Given the description of an element on the screen output the (x, y) to click on. 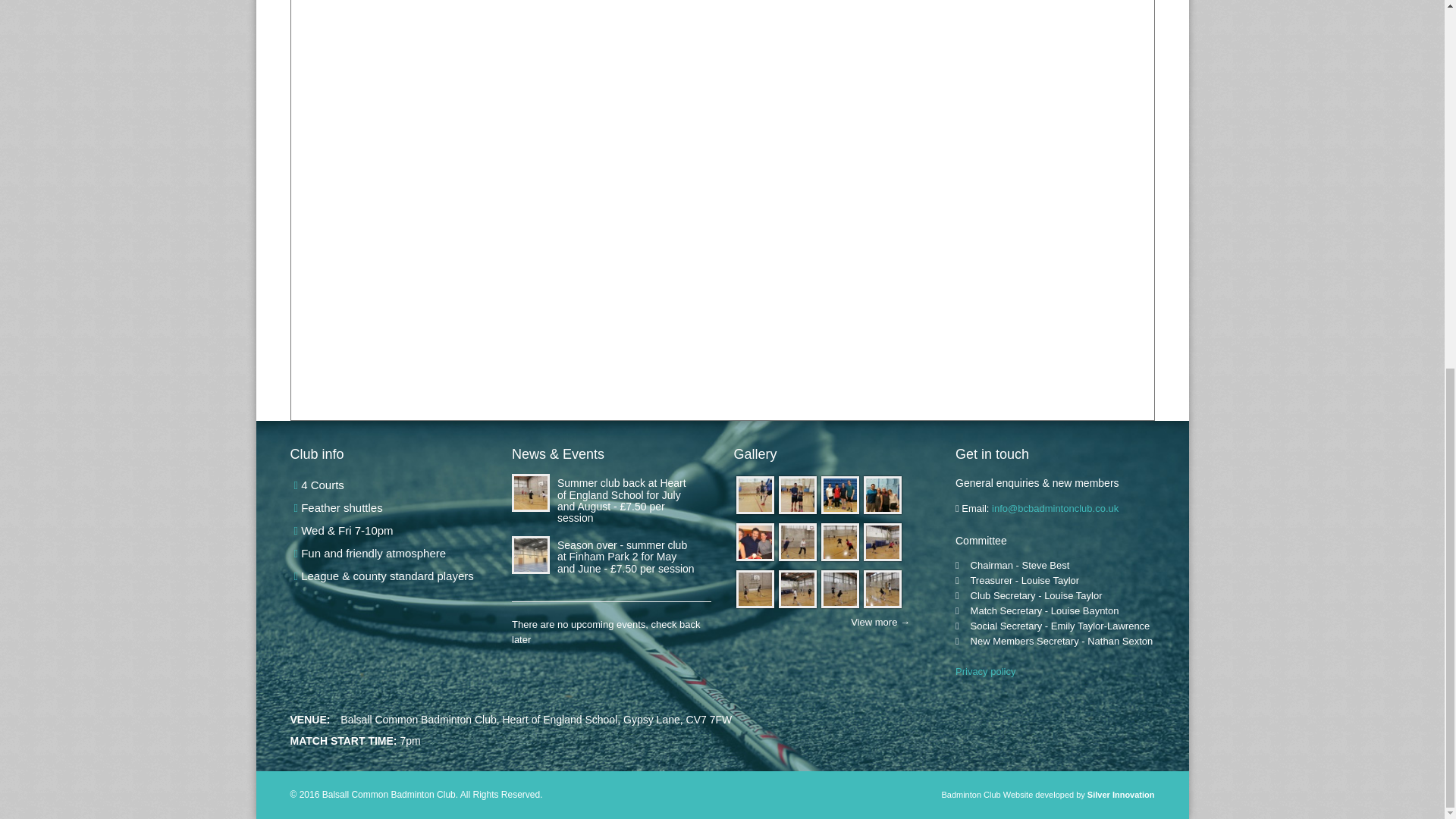
Carlos and Debbie - Runners up (796, 494)
Gemma, Ed, Lou B, Neil L (840, 494)
Carlos and Debbie VS Kenroy and Becky Smith (754, 494)
Steve B, Jo, Leigh, Debbie (882, 494)
